Given the description of an element on the screen output the (x, y) to click on. 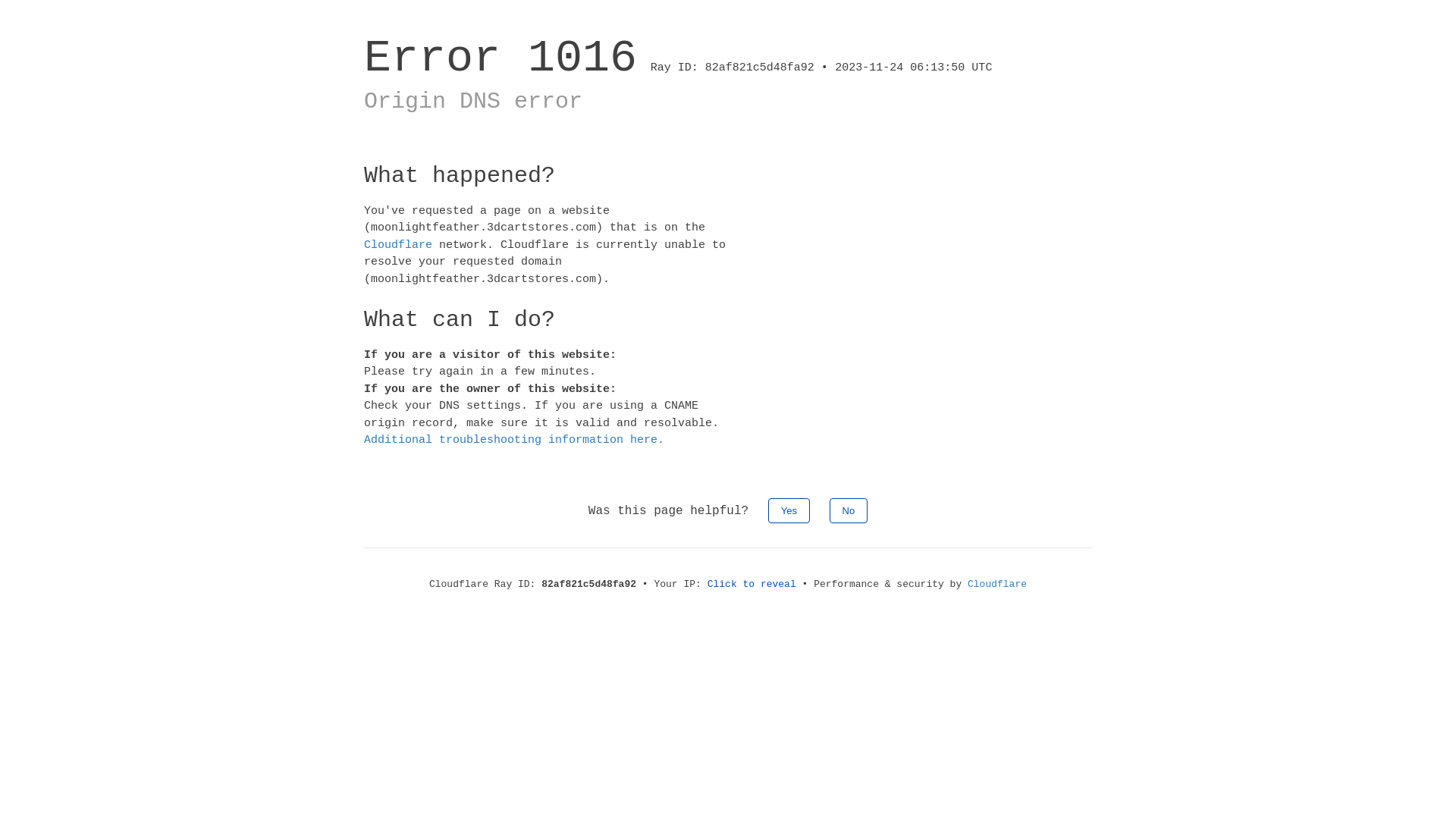
Cloudflare Element type: text (996, 583)
Cloudflare Element type: text (398, 244)
Yes Element type: text (788, 509)
Click to reveal Element type: text (751, 583)
Additional troubleshooting information here. Element type: text (514, 439)
No Element type: text (848, 509)
